Given the description of an element on the screen output the (x, y) to click on. 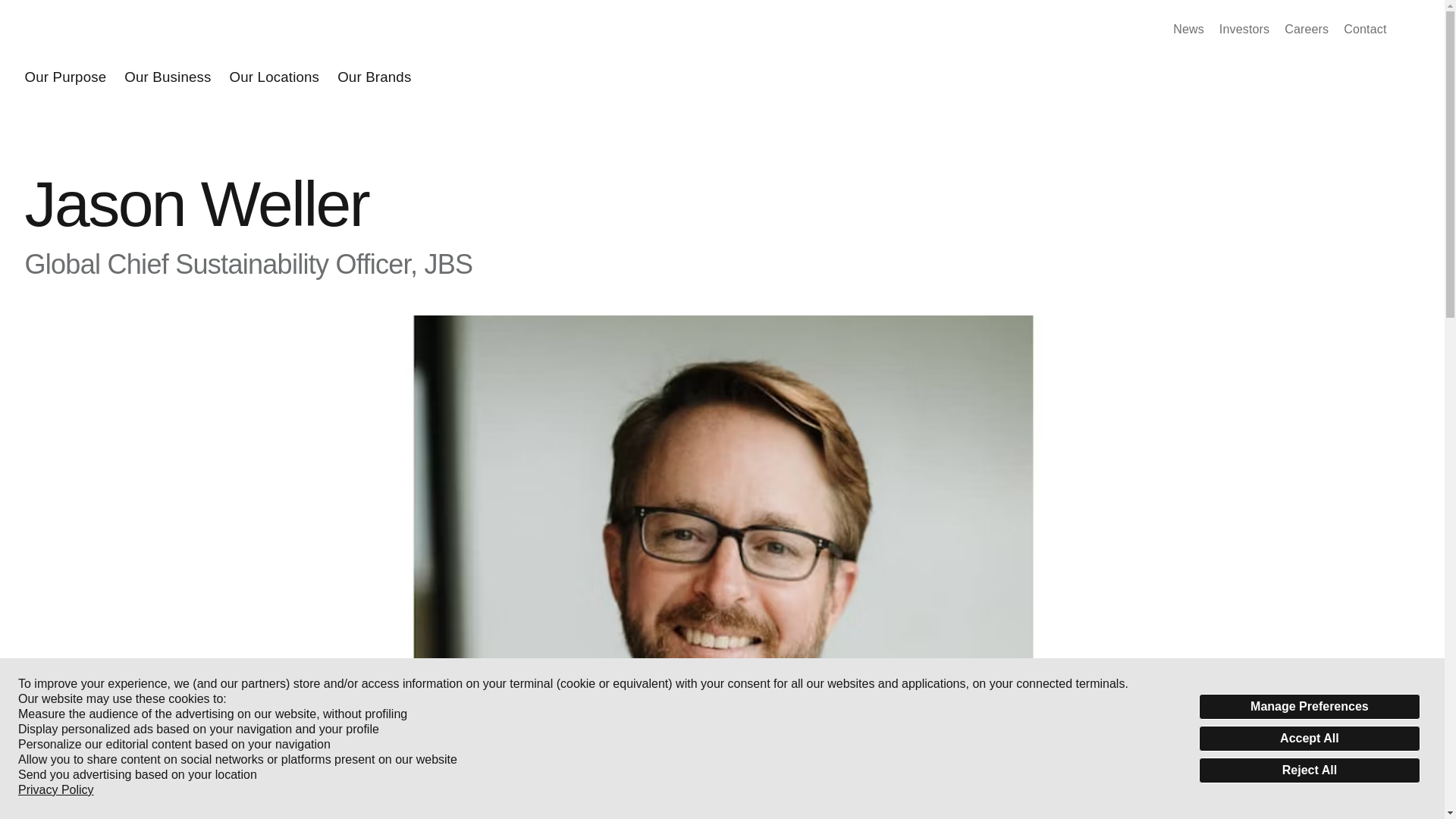
Contact (1364, 28)
Our Business (167, 77)
Our Purpose (65, 77)
Accept All (1309, 738)
Our Locations (275, 77)
Investors (1244, 28)
Reject All (1309, 769)
Manage Preferences (1309, 706)
Privacy Policy (55, 789)
Our Brands (373, 77)
